Given the description of an element on the screen output the (x, y) to click on. 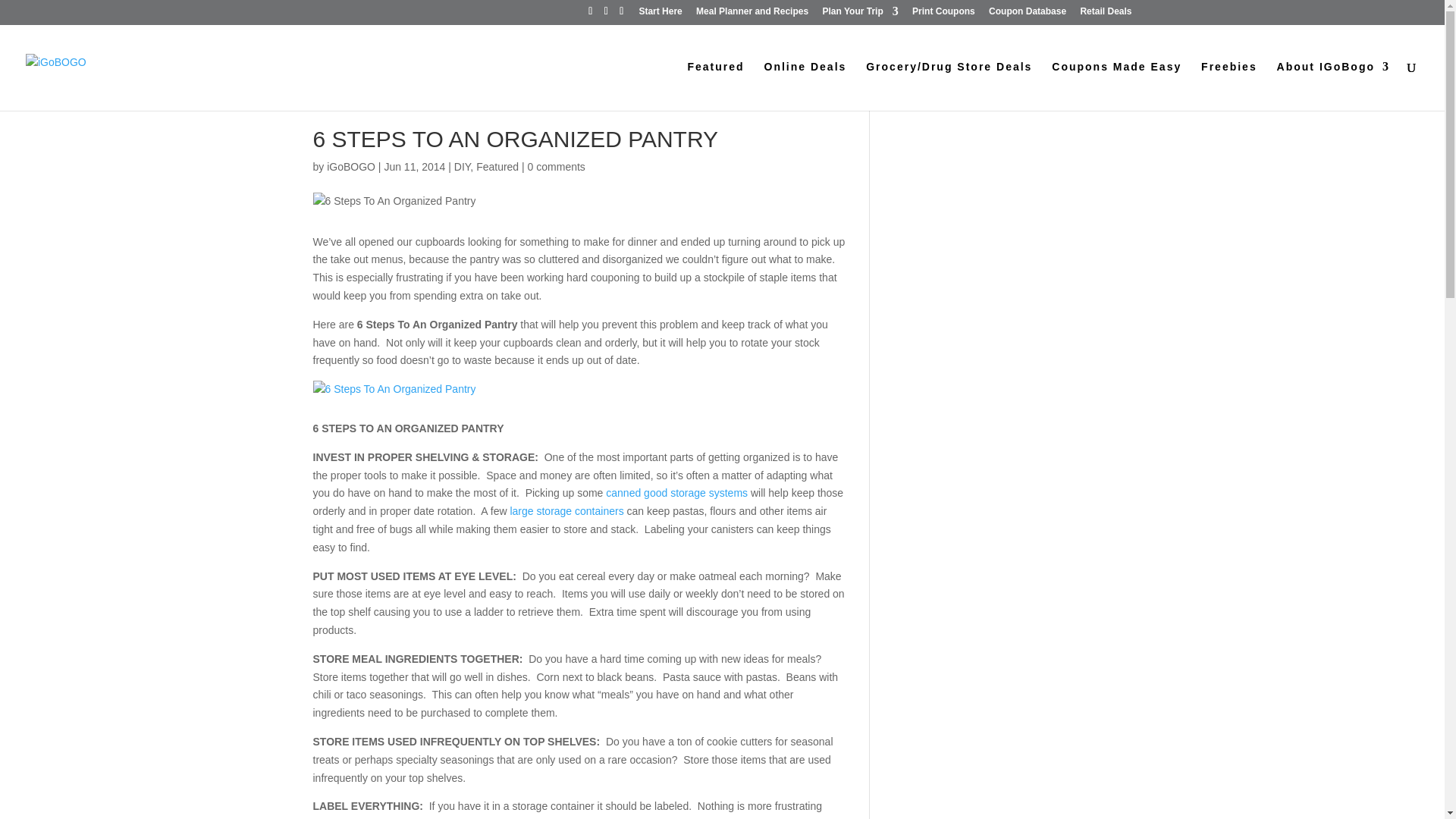
Meal Planner and Recipes (751, 14)
DIY (462, 166)
Posts by iGoBOGO (350, 166)
Online Deals (805, 85)
Coupons Made Easy (1115, 85)
About IGoBogo (1333, 85)
Featured (715, 85)
Start Here (660, 14)
Freebies (1229, 85)
6 Steps To An Organized Pantry (394, 389)
